Given the description of an element on the screen output the (x, y) to click on. 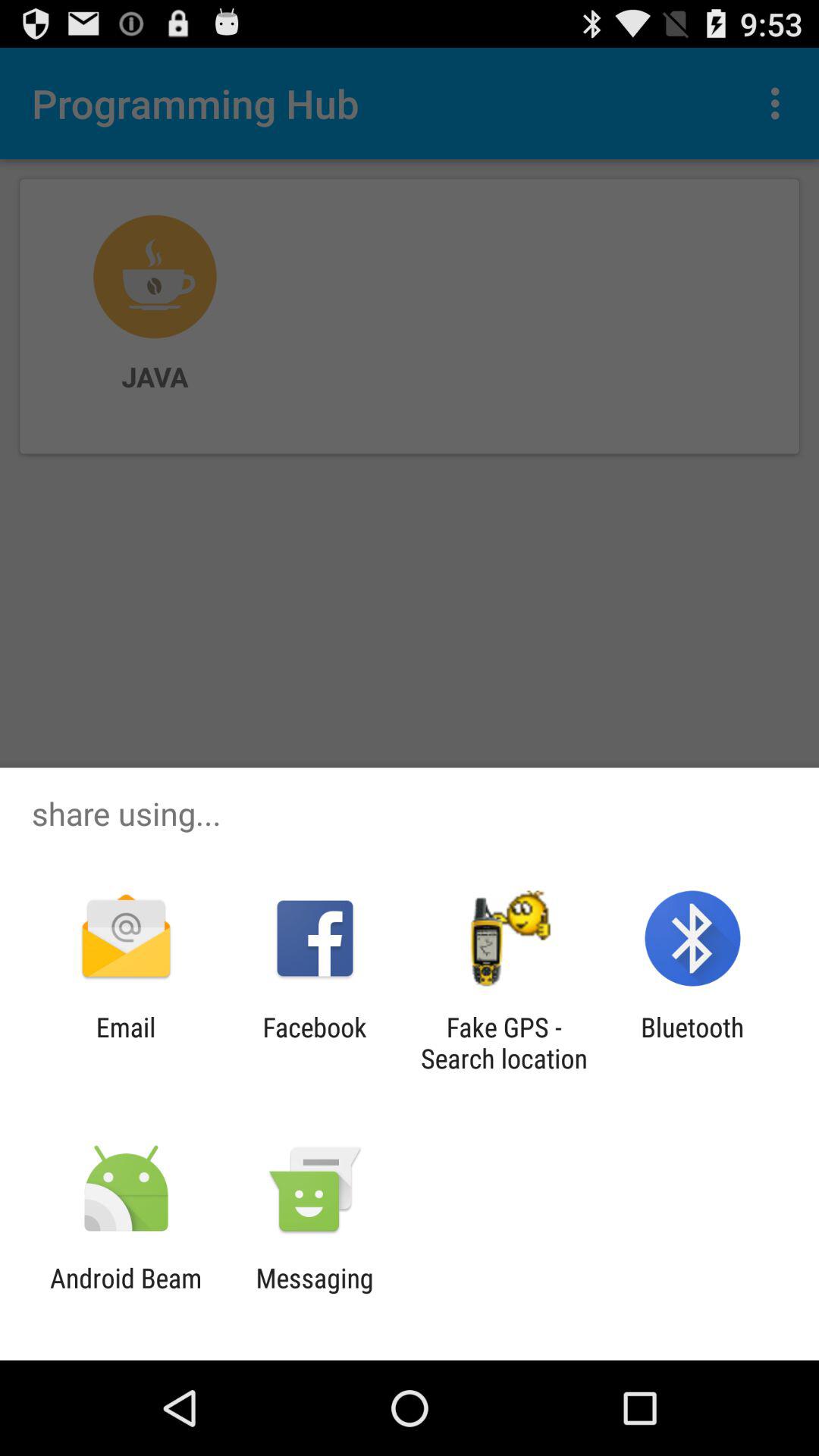
launch the android beam icon (125, 1293)
